Given the description of an element on the screen output the (x, y) to click on. 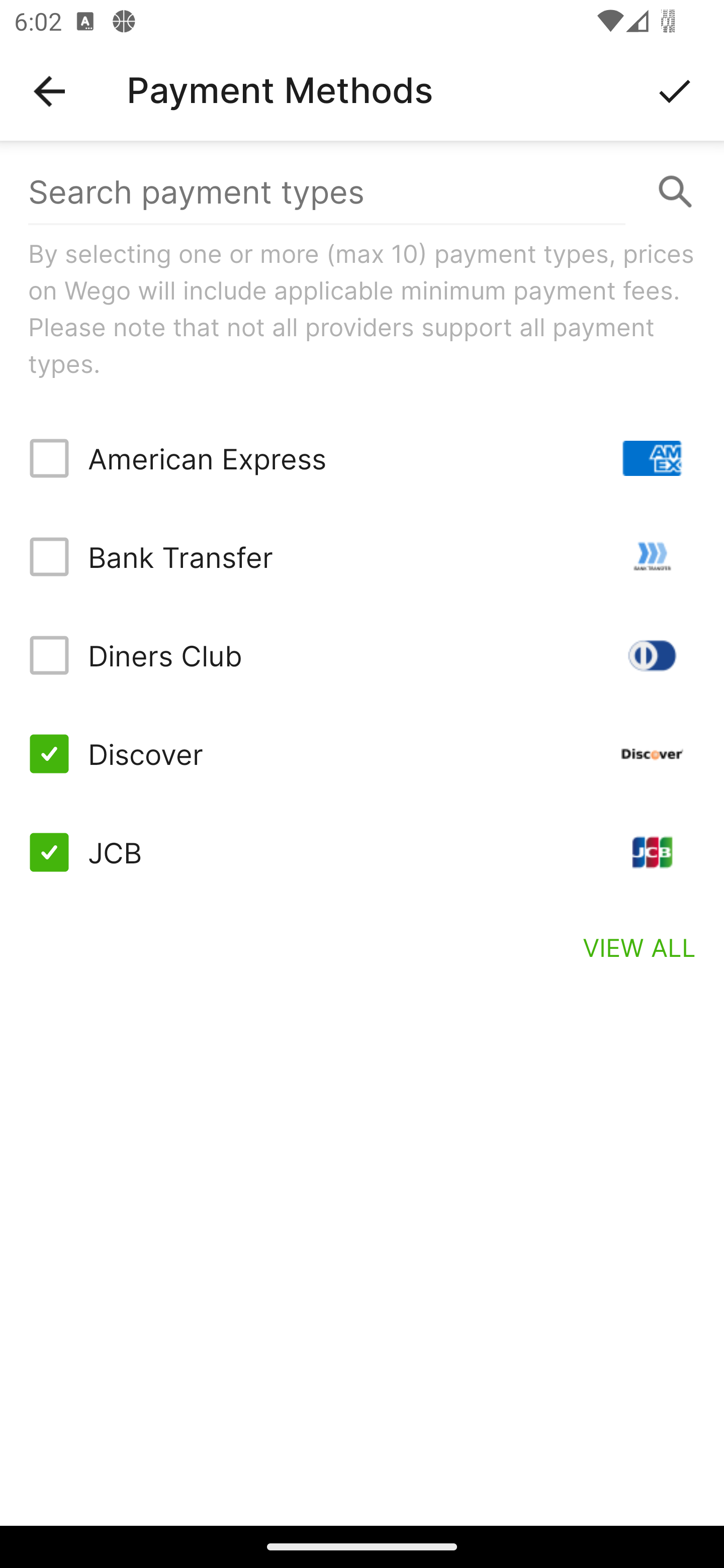
Search payment types  (361, 191)
American Express (362, 458)
Bank Transfer (362, 557)
Diners Club (362, 655)
Discover (362, 753)
JCB (362, 851)
VIEW ALL (639, 946)
